Given the description of an element on the screen output the (x, y) to click on. 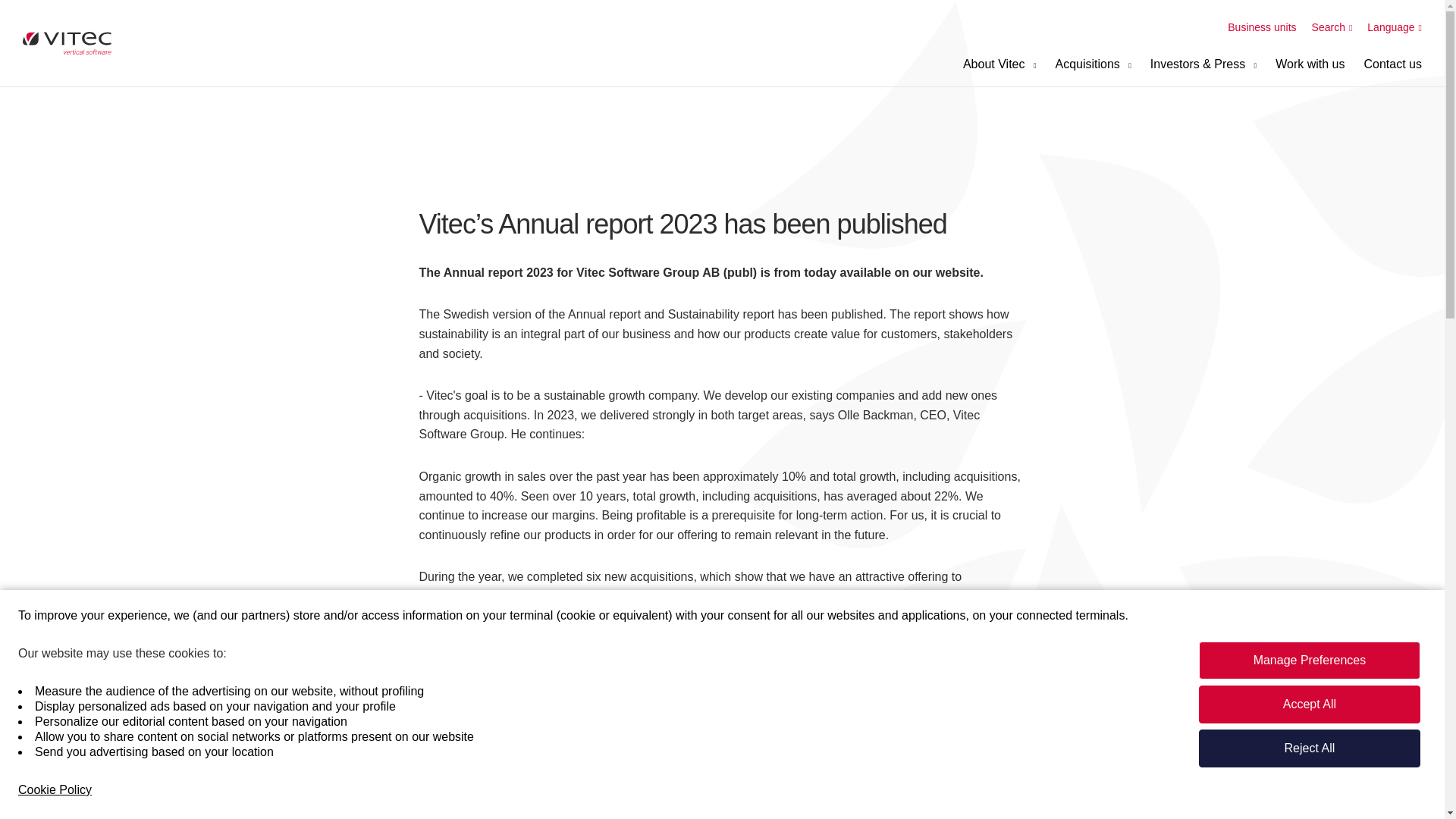
Search (1331, 27)
Acquisitions (1092, 63)
About Vitec (999, 63)
Contact us (1393, 63)
Business units (1261, 27)
Vitec software group (67, 43)
Manage Preferences (1309, 660)
Accept All (1309, 704)
Work with us (1309, 63)
Cookie Policy (54, 789)
